Given the description of an element on the screen output the (x, y) to click on. 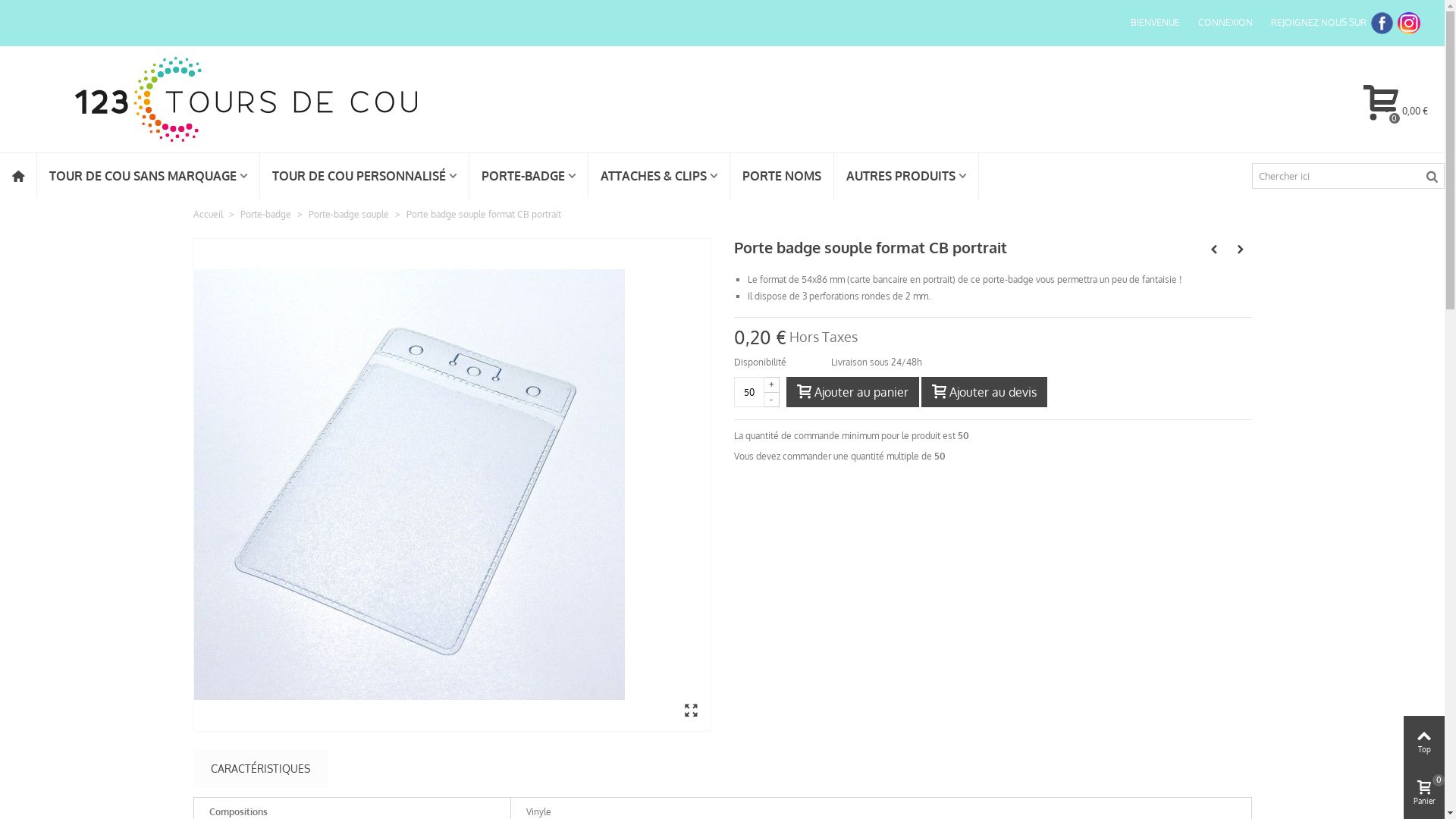
Facebook Element type: hover (1381, 22)
CONNEXION Element type: text (1225, 22)
Ajouter au panier Element type: text (851, 391)
- Element type: text (771, 399)
123 TOURS DE COU Element type: hover (246, 97)
AUTRES PRODUITS Element type: text (906, 175)
Instagram Element type: hover (1408, 22)
PORTE-BADGE Element type: text (528, 175)
Porte-badge souple Element type: text (348, 213)
TOUR DE COU SANS MARQUAGE Element type: text (148, 175)
ATTACHES & CLIPS Element type: text (658, 175)
Ajouter au devis Element type: text (983, 391)
PORTE NOMS Element type: text (781, 175)
+ Element type: text (771, 384)
Badge souple format CB portrait Element type: hover (409, 484)
Accueil Element type: text (207, 213)
Badge souple format CB portrait Element type: hover (452, 484)
Porte-badge Element type: text (265, 213)
Top Element type: text (1423, 741)
